Given the description of an element on the screen output the (x, y) to click on. 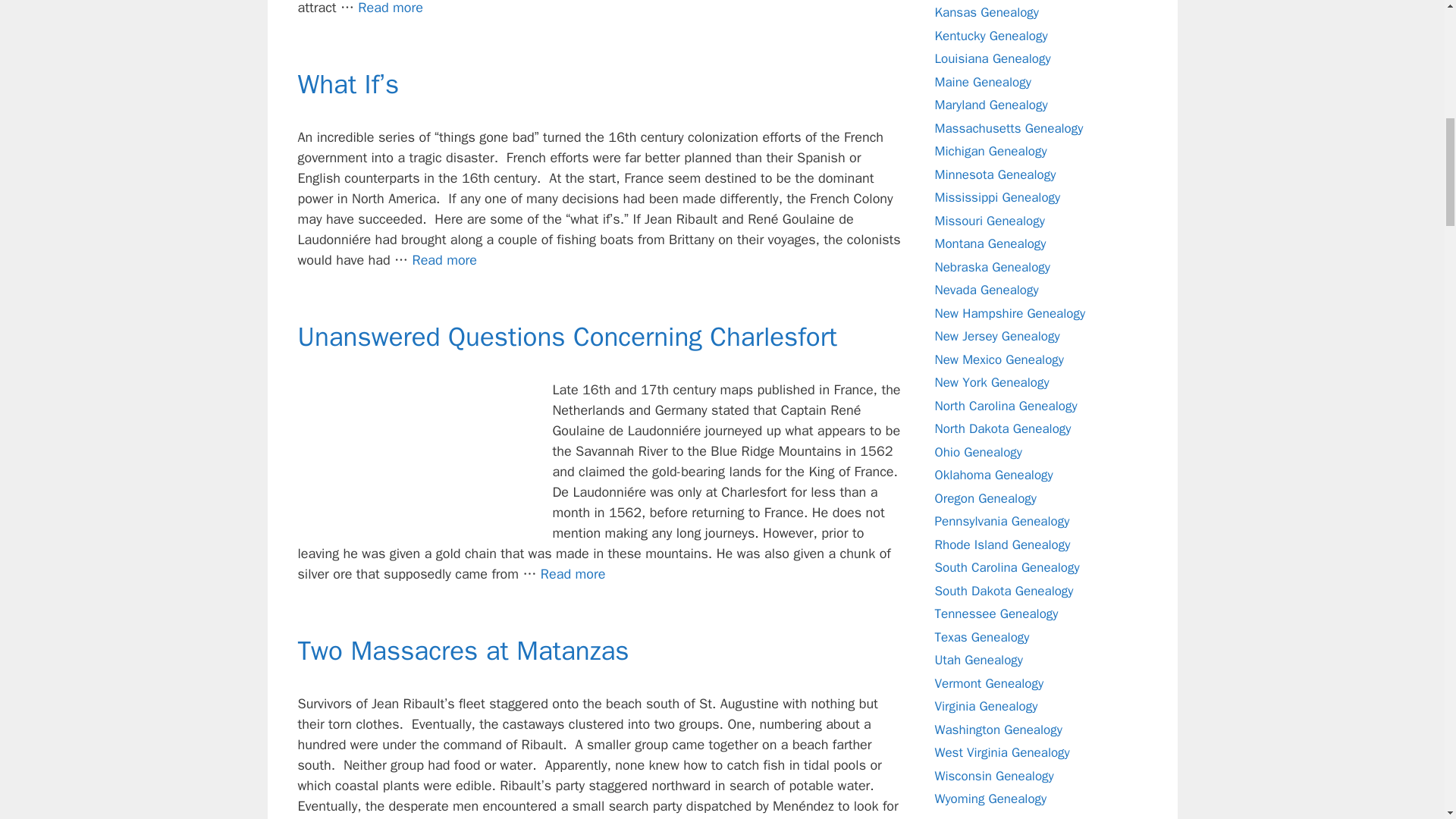
Read more (390, 7)
Where was Fort Caroline? (390, 7)
Two Massacres at Matanzas (462, 650)
Read more (629, 818)
Read more (572, 573)
Unanswered Questions Concerning Charlesfort (567, 336)
Unanswered Questions Concerning Charlesfort 1 (410, 456)
Unanswered Questions Concerning Charlesfort (572, 573)
Two Massacres at Matanzas (629, 818)
Read more (444, 259)
